Given the description of an element on the screen output the (x, y) to click on. 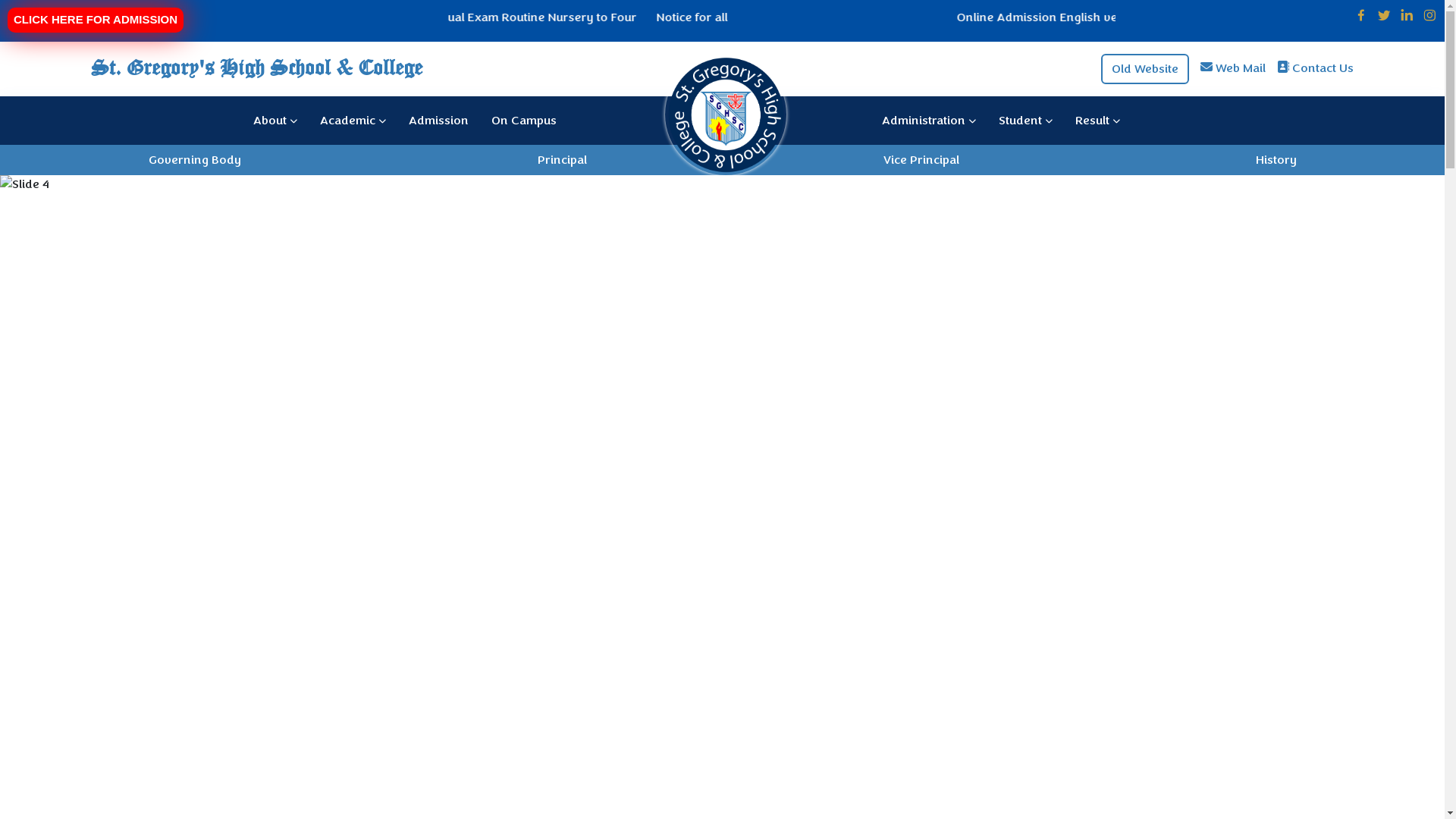
Academic Element type: text (352, 119)
Web Mail Element type: text (1240, 67)
Old Website Element type: text (1145, 68)
Notice for all of students Element type: text (401, 16)
Annual Exam Routine for class 5, 8 & 9 Element type: text (596, 16)
St. Gregory's High School & College Element type: text (508, 68)
Annual Exam Routine for class 6 & 7 Element type: text (824, 16)
CLICK HERE FOR ADMISSION Element type: text (95, 19)
Admission Element type: text (438, 119)
Contact Us Element type: text (1322, 67)
Old Website Element type: text (1145, 67)
About Element type: text (275, 119)
Principal Element type: text (561, 159)
Student Element type: text (1025, 119)
Annual Exam Routine Nursery to Four Element type: text (1050, 16)
Notice for Morning shift bangla and english Element type: text (191, 16)
Administration Element type: text (928, 119)
Result Element type: text (1097, 119)
Governing Body Element type: text (194, 159)
Notice for all Element type: text (1211, 16)
History Element type: text (1275, 159)
Vice Principal Element type: text (920, 159)
On Campus Element type: text (523, 119)
